Given the description of an element on the screen output the (x, y) to click on. 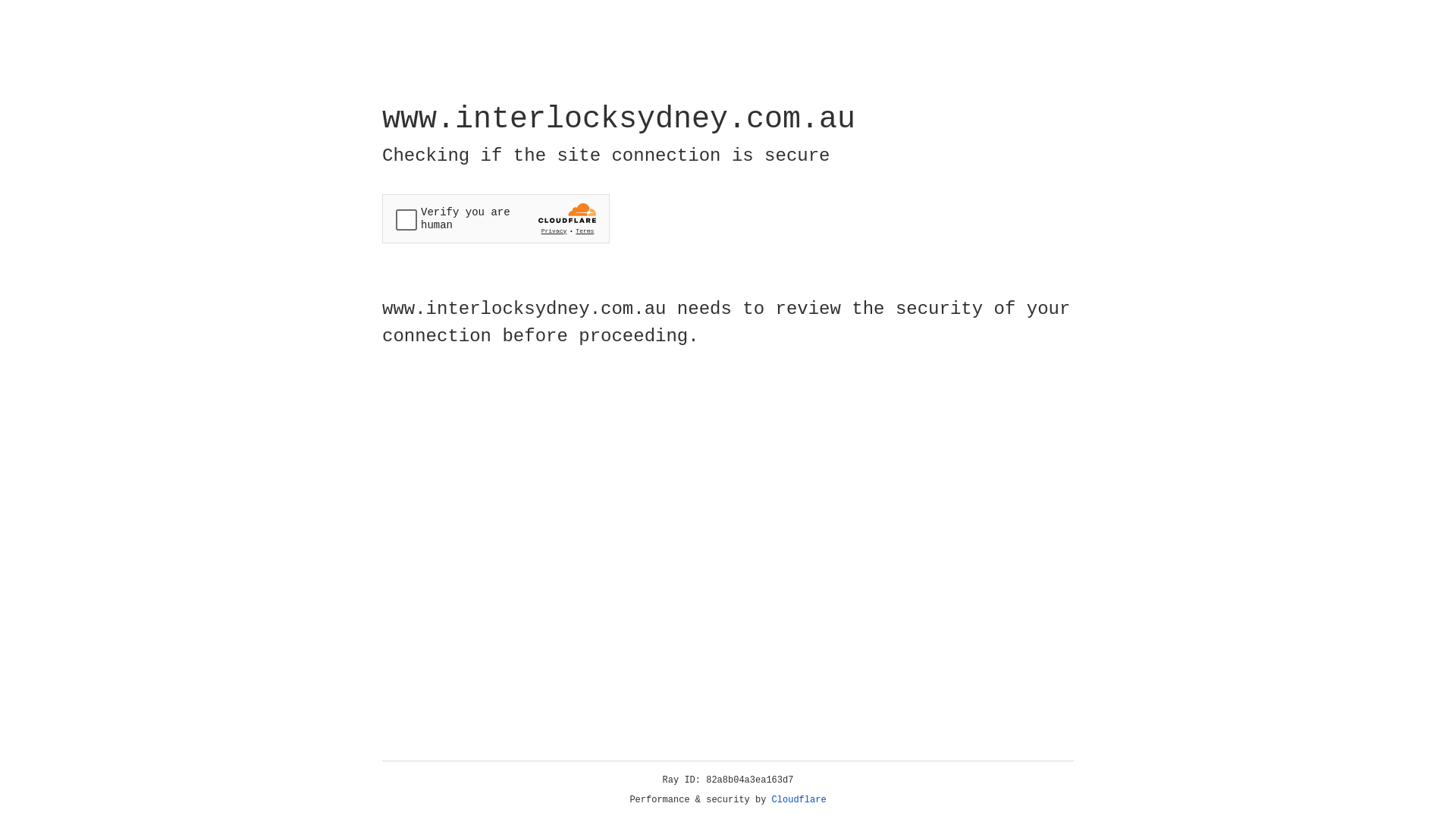
Cloudflare Element type: text (798, 799)
Widget containing a Cloudflare security challenge Element type: hover (495, 218)
